Given the description of an element on the screen output the (x, y) to click on. 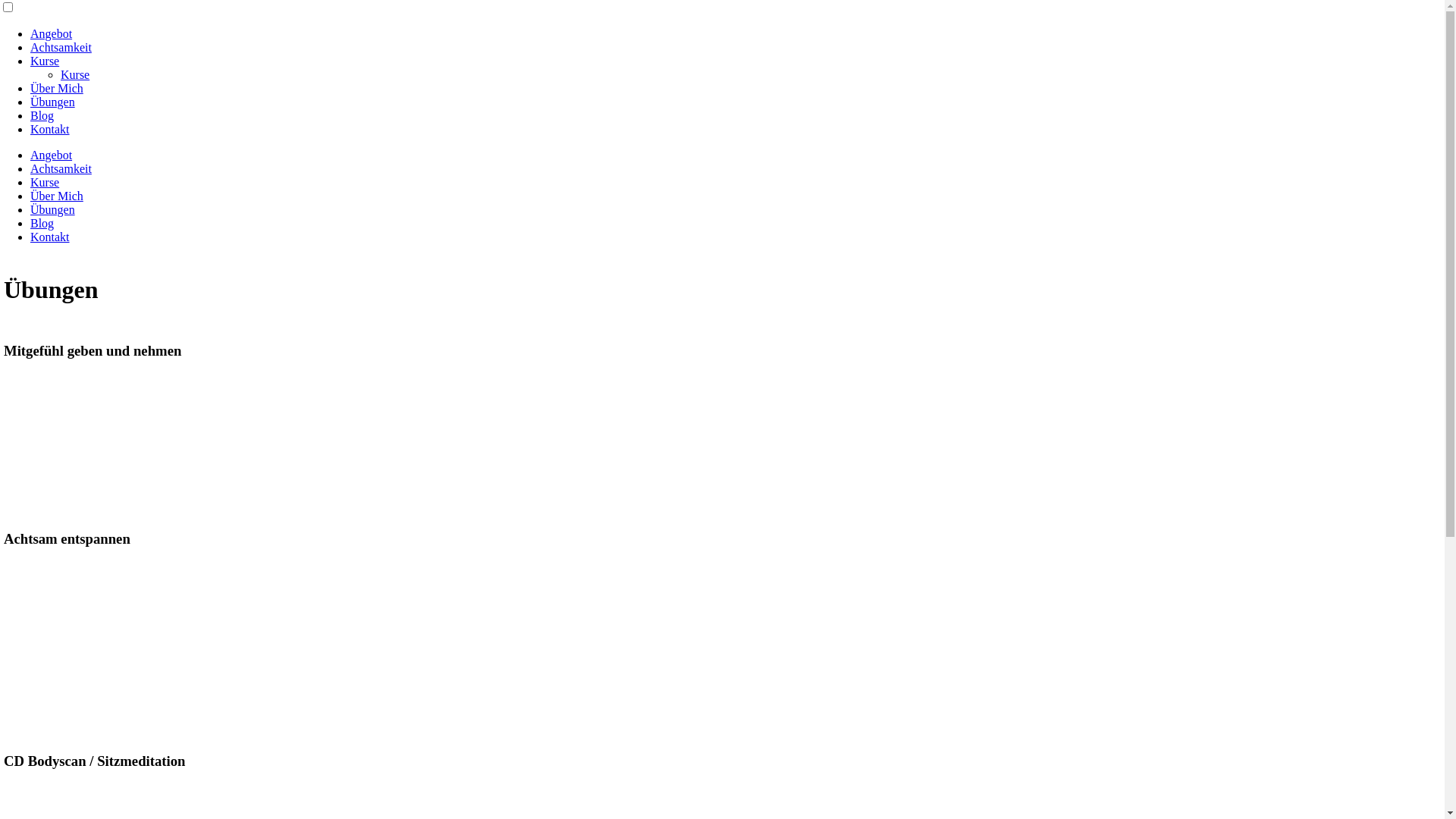
Kurse Element type: text (74, 74)
Kontakt Element type: text (49, 128)
Achtsamkeit Element type: text (60, 46)
Kurse Element type: text (44, 181)
Kurse Element type: text (44, 60)
Blog Element type: text (41, 222)
Angebot Element type: text (51, 154)
Angebot Element type: text (51, 33)
Kontakt Element type: text (49, 236)
Achtsamkeit Element type: text (60, 168)
Blog Element type: text (41, 115)
